Given the description of an element on the screen output the (x, y) to click on. 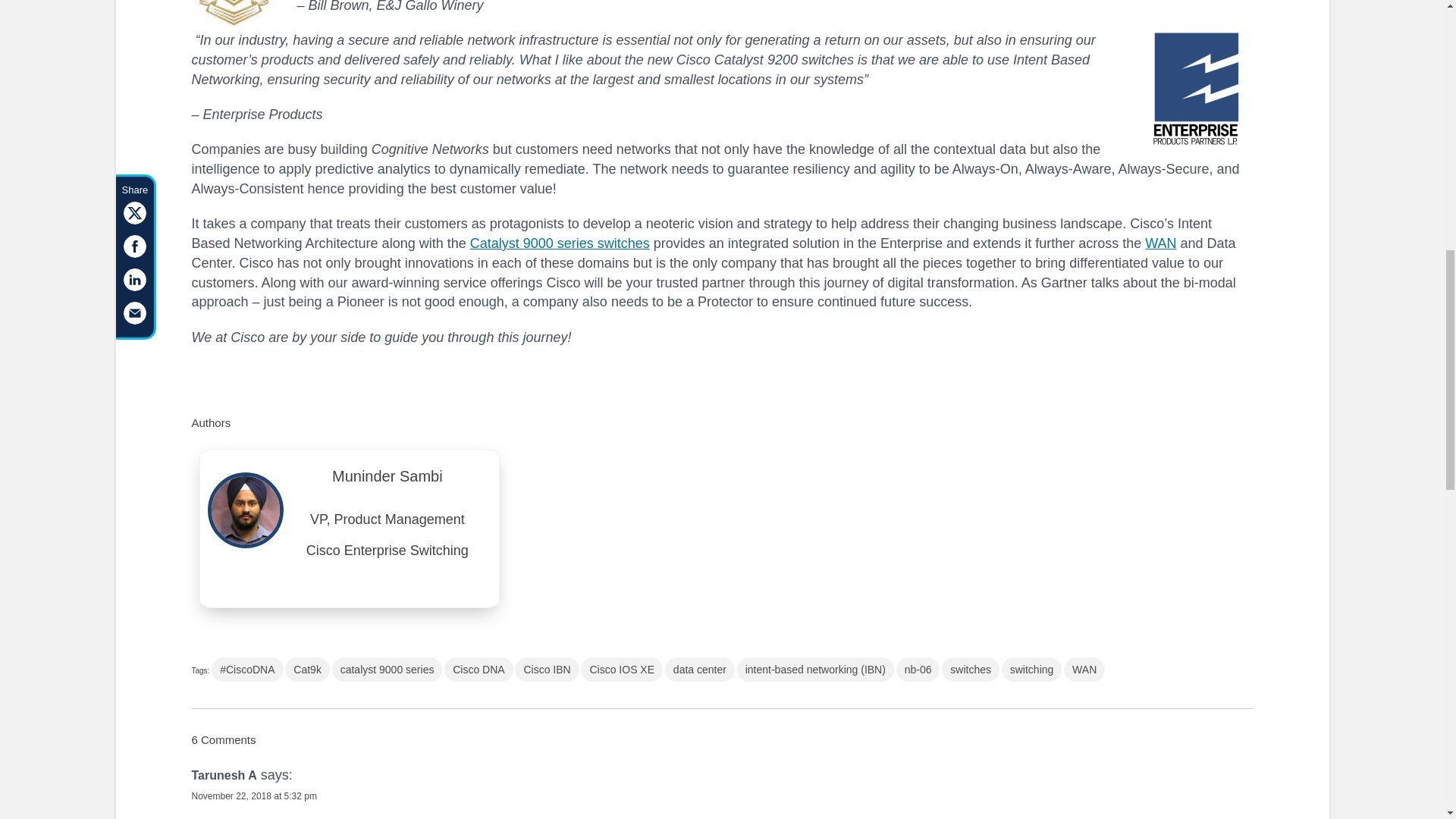
switches (970, 669)
Cisco IOS XE (621, 669)
Cisco DNA (478, 669)
data center (700, 669)
Cisco IBN (546, 669)
November 22, 2018 at 5:32 pm (252, 796)
Muninder Sambi (387, 480)
catalyst 9000 series (386, 669)
nb-06 (918, 669)
WAN (1160, 242)
switching (1031, 669)
WAN (1084, 669)
Cat9k (307, 669)
Catalyst 9000 series switches (559, 242)
